Given the description of an element on the screen output the (x, y) to click on. 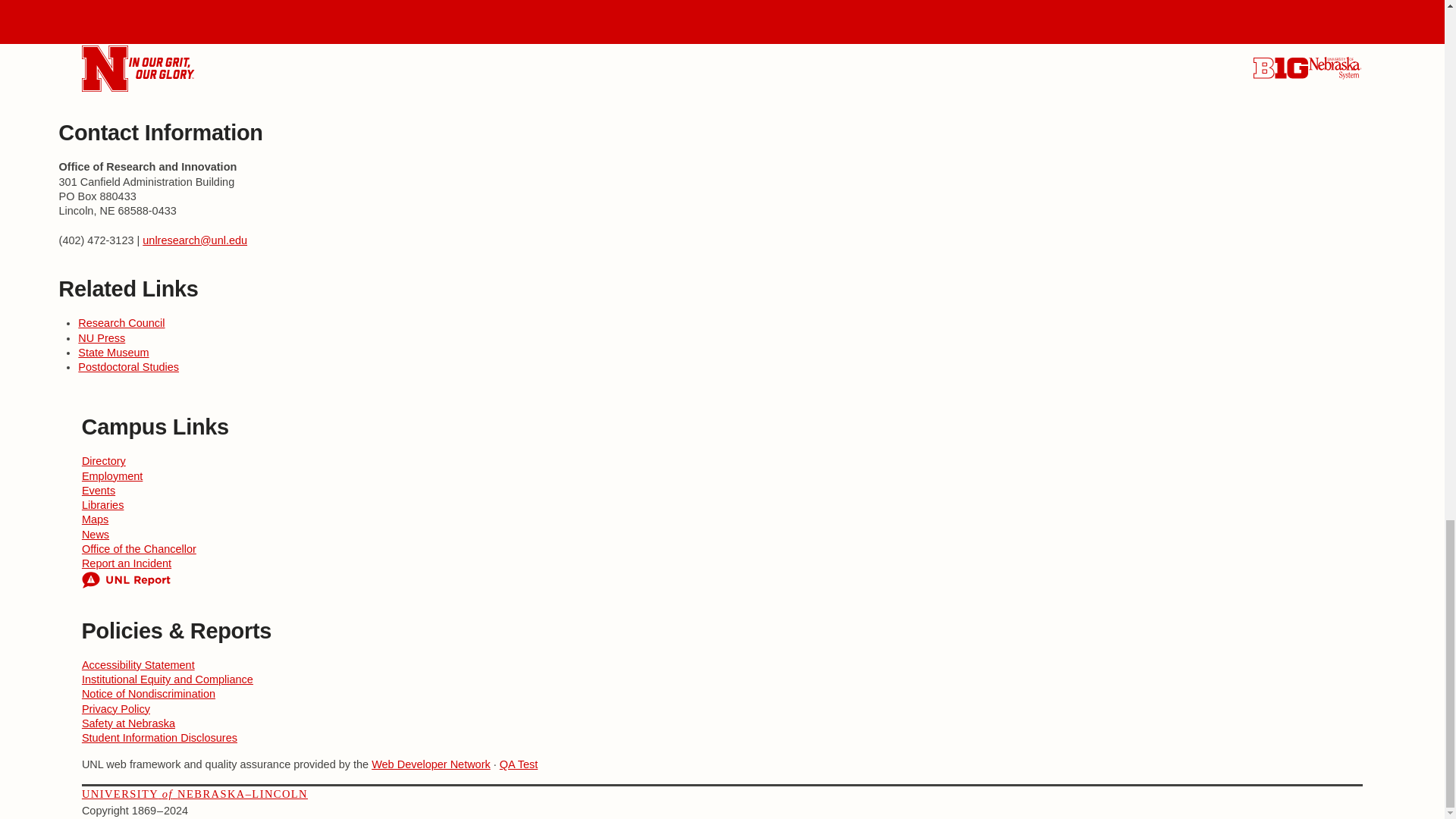
Postdoctoral Studies (128, 367)
State Museum (113, 352)
University of Nebraska Press  (101, 337)
